Given the description of an element on the screen output the (x, y) to click on. 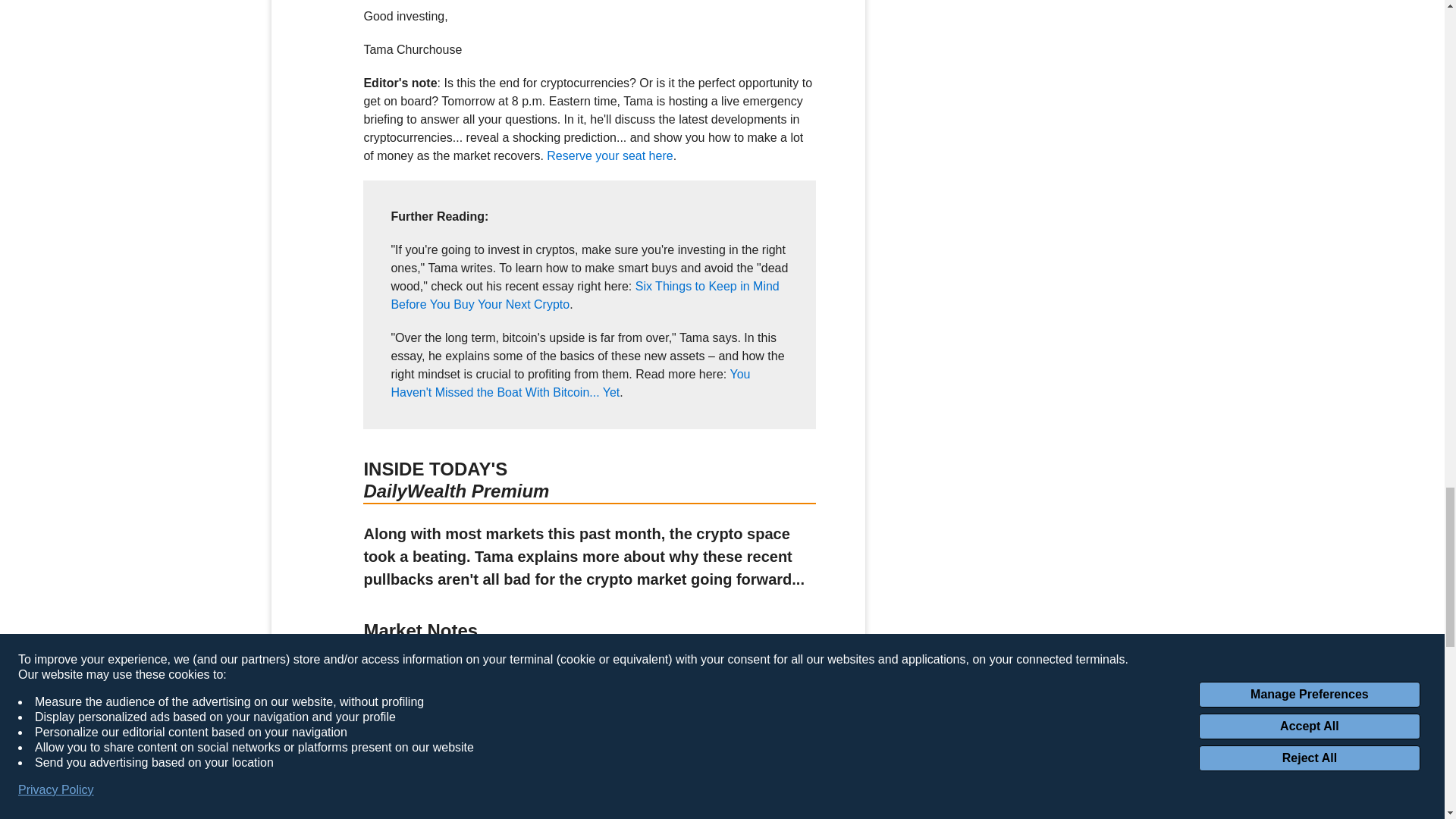
Six Things to Keep in Mind Before You Buy Your Next Crypto (584, 295)
You Haven't Missed the Boat With Bitcoin... Yet (569, 382)
Reserve your seat here (609, 155)
